Given the description of an element on the screen output the (x, y) to click on. 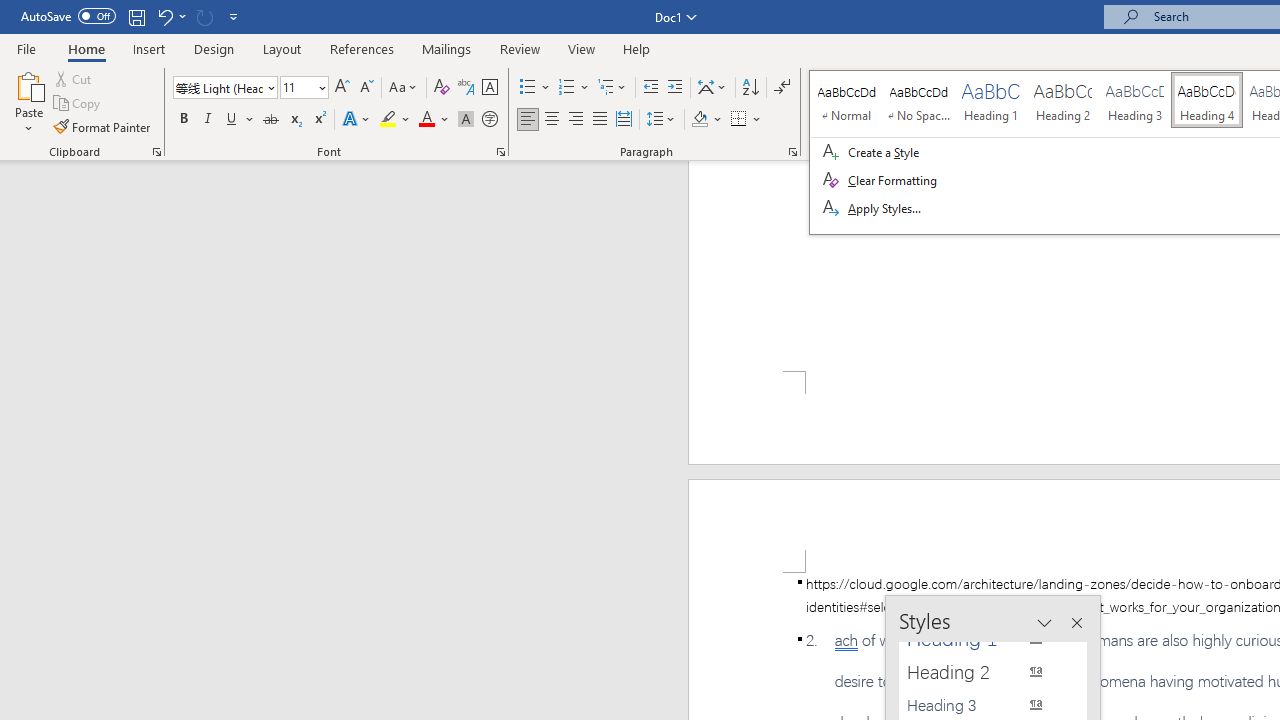
Can't Repeat (204, 15)
